Given the description of an element on the screen output the (x, y) to click on. 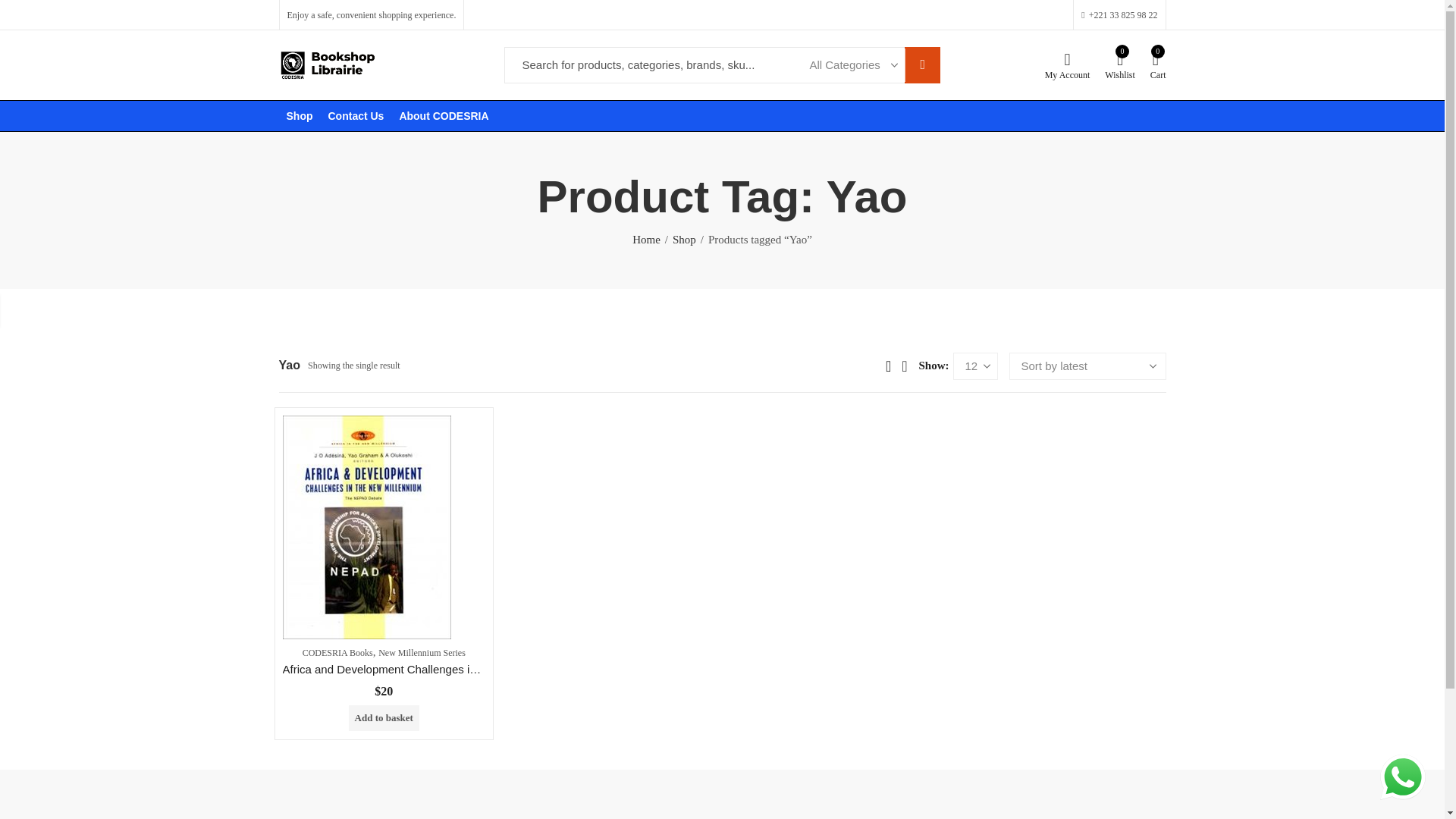
Home (646, 239)
My Account (1067, 65)
About CODESRIA (443, 115)
Contact Us (355, 115)
New Millennium Series (421, 652)
Search (922, 64)
Shop (683, 239)
Add to basket (384, 718)
Shop (1120, 65)
CODESRIA Books (299, 115)
